Given the description of an element on the screen output the (x, y) to click on. 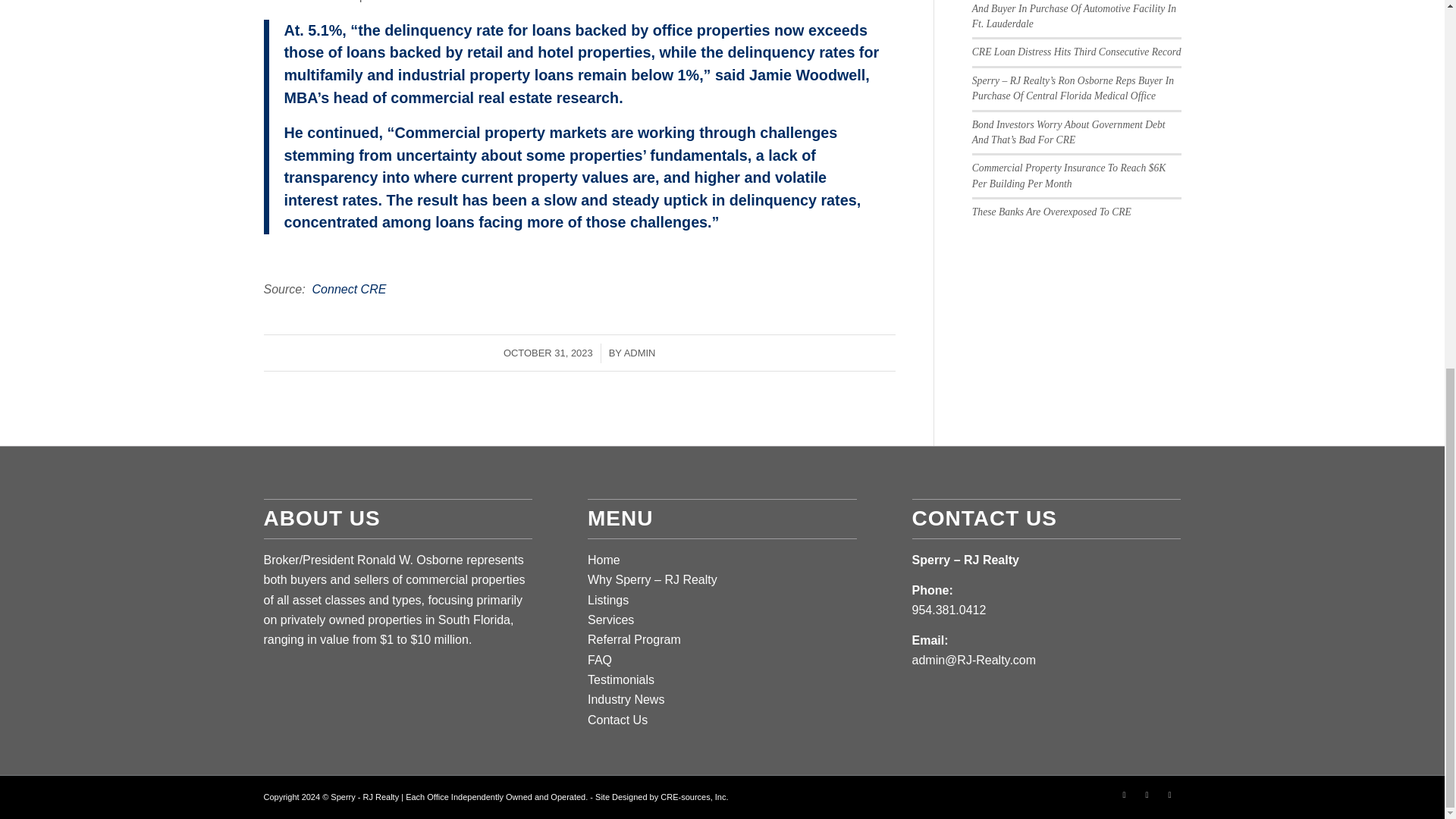
LinkedIn (1146, 793)
Facebook (1124, 793)
Mail (1169, 793)
Connect CRE (350, 288)
CRE Loan Distress Hits Third Consecutive Record (1076, 51)
Posts by ADMIN (640, 352)
ADMIN (640, 352)
